Given the description of an element on the screen output the (x, y) to click on. 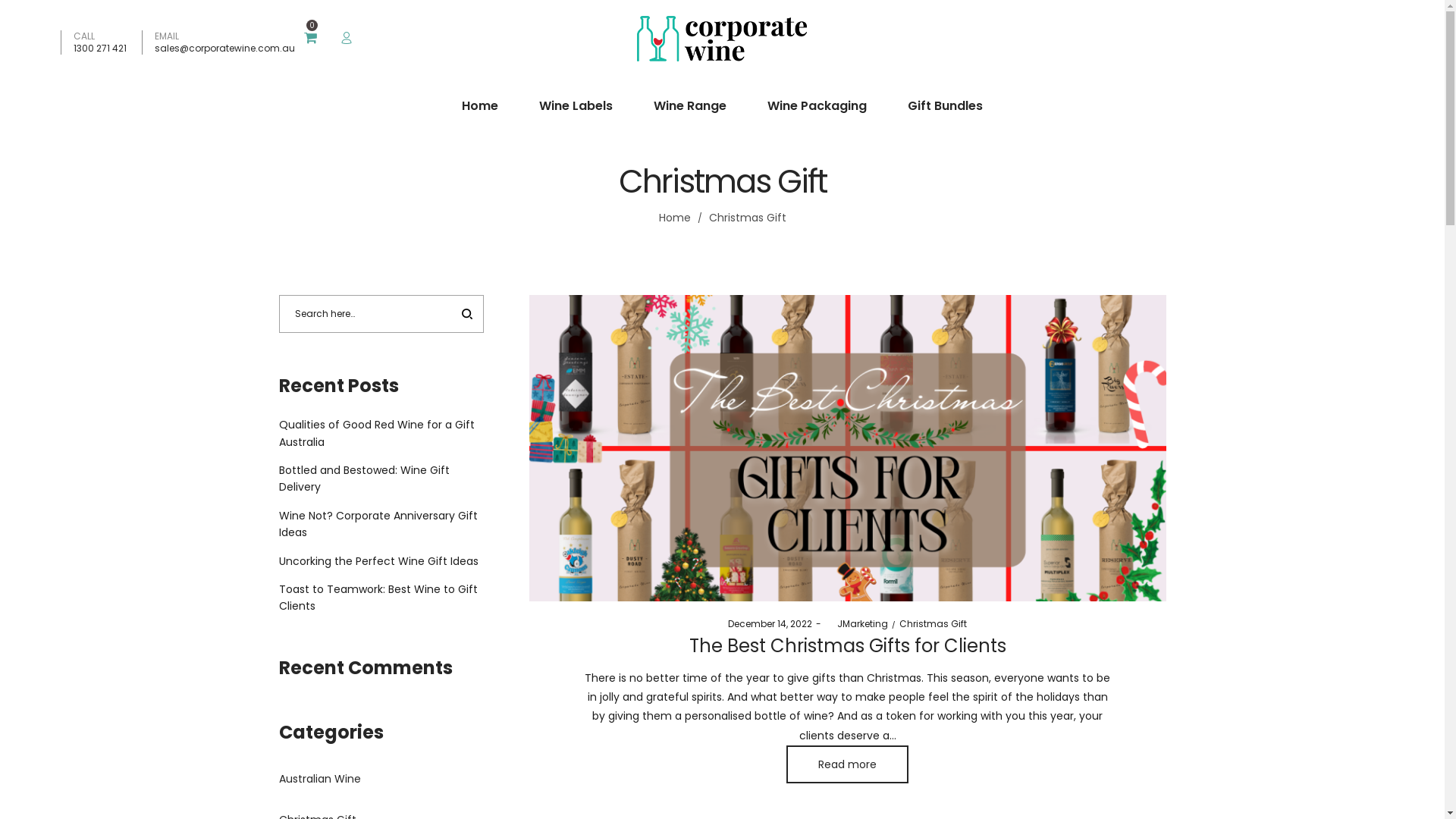
Bottled and Bestowed: Wine Gift Delivery Element type: text (364, 478)
Wine Not? Corporate Anniversary Gift Ideas Element type: text (378, 523)
Qualities of Good Red Wine for a Gift Australia Element type: text (376, 432)
Posted on
December 14, 2022 Element type: text (770, 623)
Wine Range Element type: text (689, 106)
0 Element type: text (309, 37)
by JMarketing Element type: text (856, 623)
Uncorking the Perfect Wine Gift Ideas Element type: text (378, 560)
Search for: Element type: hover (381, 313)
The Best Christmas Gifts for Clients Element type: text (846, 645)
Wine Packaging Element type: text (817, 106)
Christmas Gift Element type: text (932, 623)
Australian Wine Element type: text (319, 778)
Home Element type: text (479, 106)
Read more Element type: text (847, 764)
Wine Labels Element type: text (575, 106)
Gift Bundles Element type: text (945, 106)
Home Element type: text (674, 217)
Toast to Teamwork: Best Wine to Gift Clients Element type: text (378, 597)
